Given the description of an element on the screen output the (x, y) to click on. 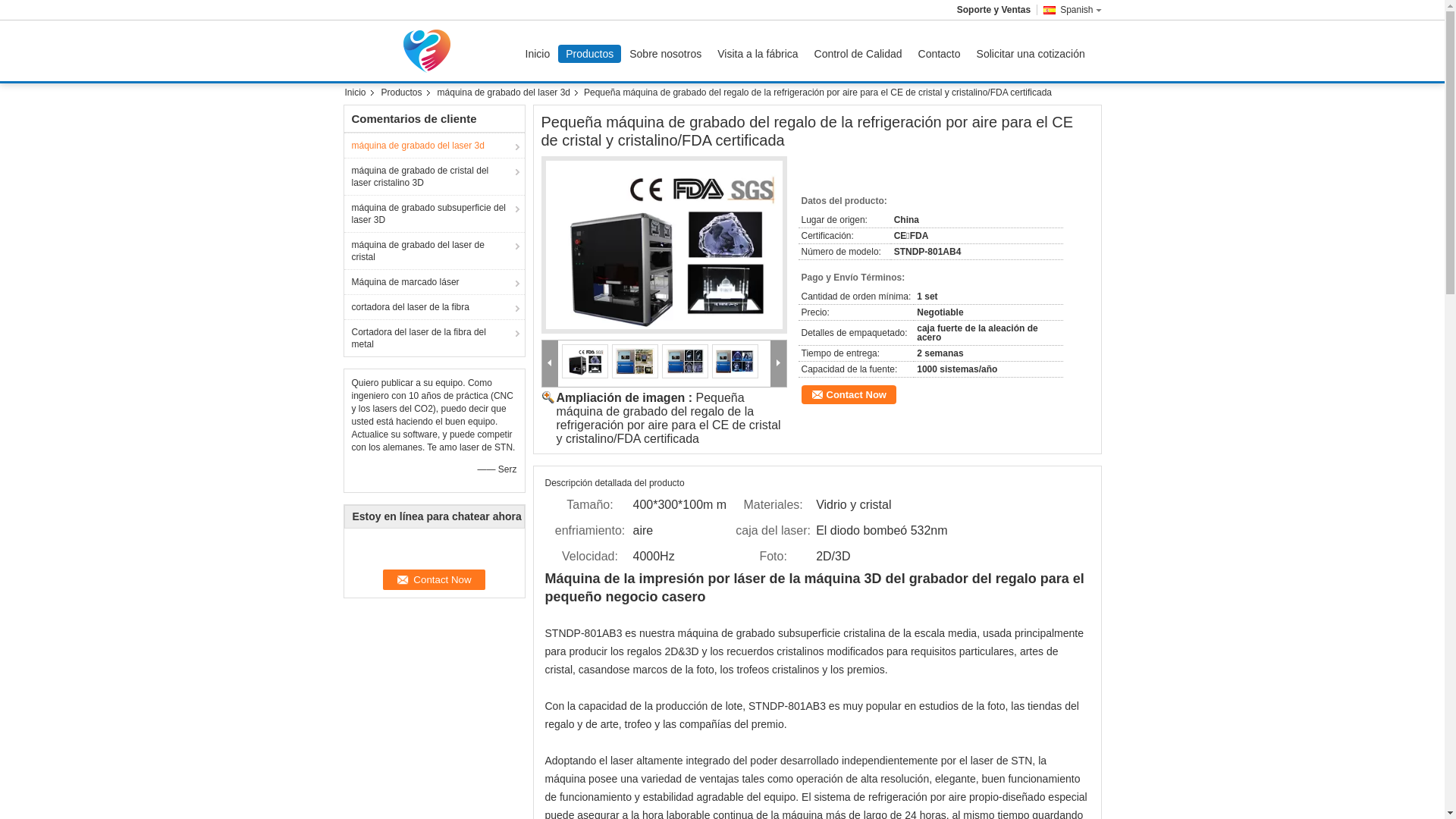
Control de Calidad Element type: text (858, 53)
Productos Element type: text (403, 92)
cortadora del laser de la fibra Element type: text (434, 306)
Contact Now Element type: text (433, 579)
Sobre nosotros Element type: text (665, 53)
Inicio Element type: text (537, 53)
Inicio Element type: text (359, 92)
Cortadora del laser de la fibra del metal Element type: text (434, 337)
Spanish Element type: text (1068, 9)
Contacto Element type: text (939, 53)
Productos Element type: text (589, 53)
Contact Now Element type: text (847, 394)
